Given the description of an element on the screen output the (x, y) to click on. 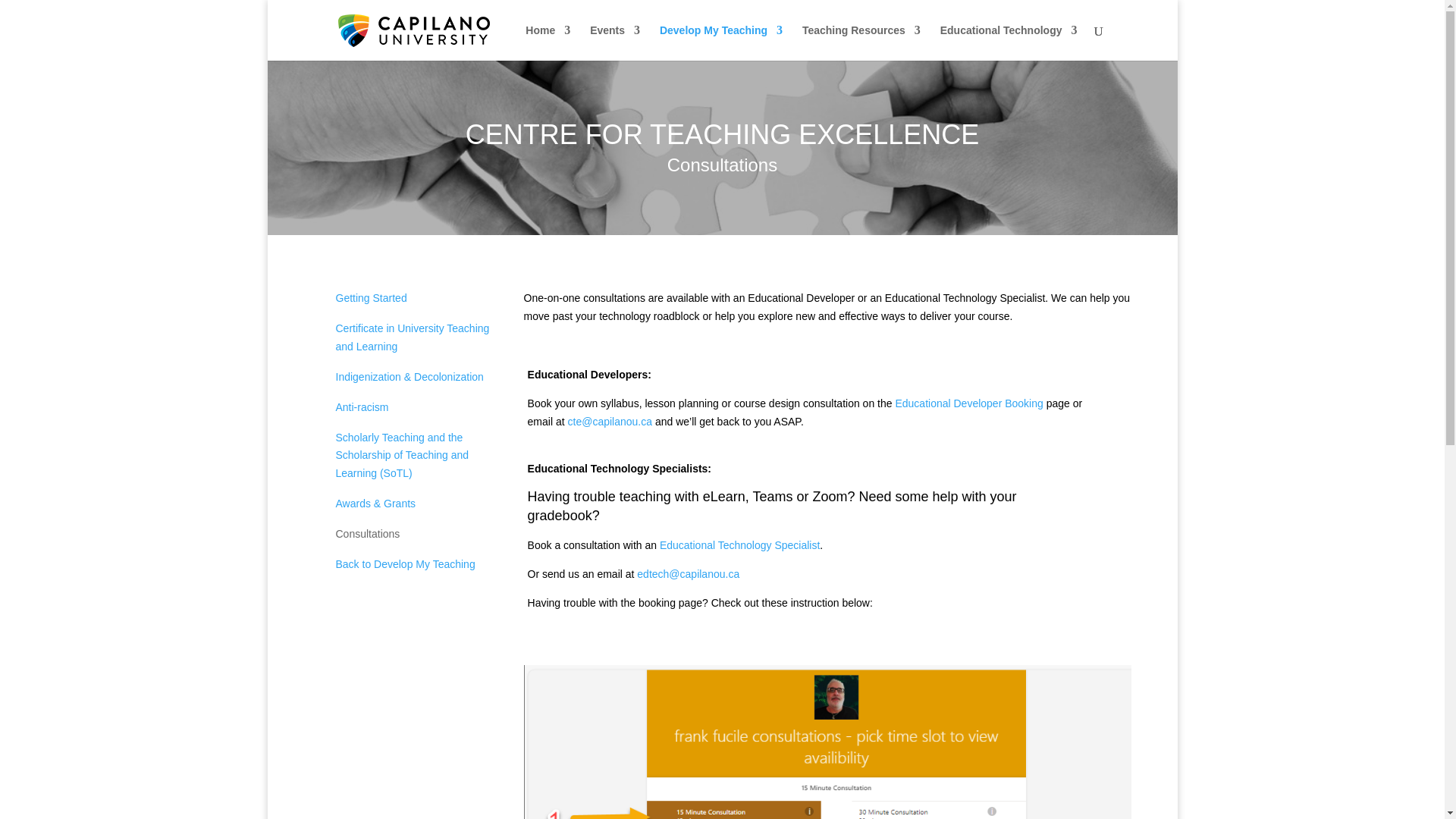
Develop My Teaching (721, 42)
howtobookaconsult (828, 742)
Educational Technology (1008, 42)
Home (547, 42)
Events (614, 42)
Teaching Resources (861, 42)
